Given the description of an element on the screen output the (x, y) to click on. 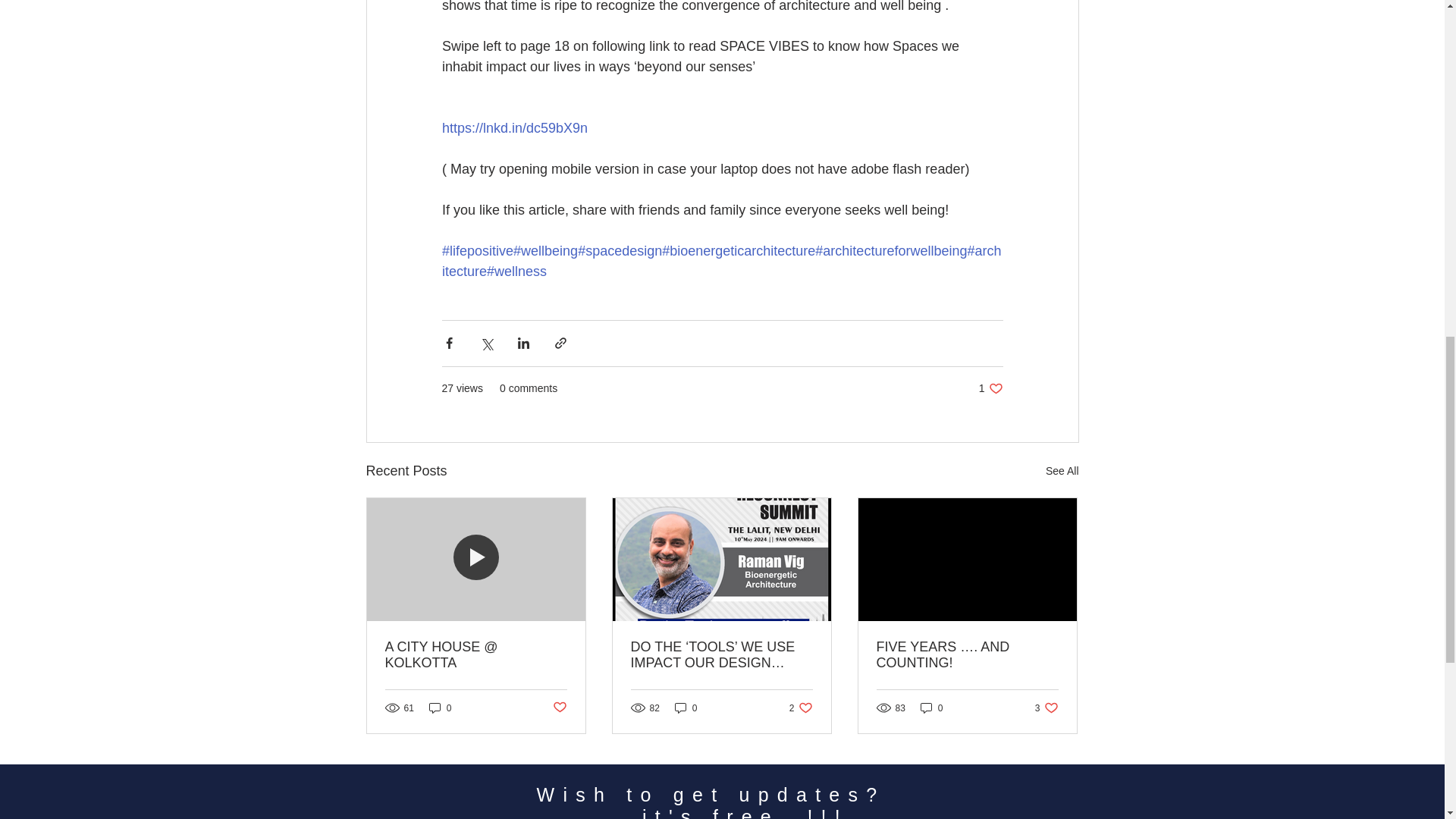
0 (931, 707)
0 (685, 707)
Post not marked as liked (800, 707)
See All (558, 707)
0 (1061, 471)
